Given the description of an element on the screen output the (x, y) to click on. 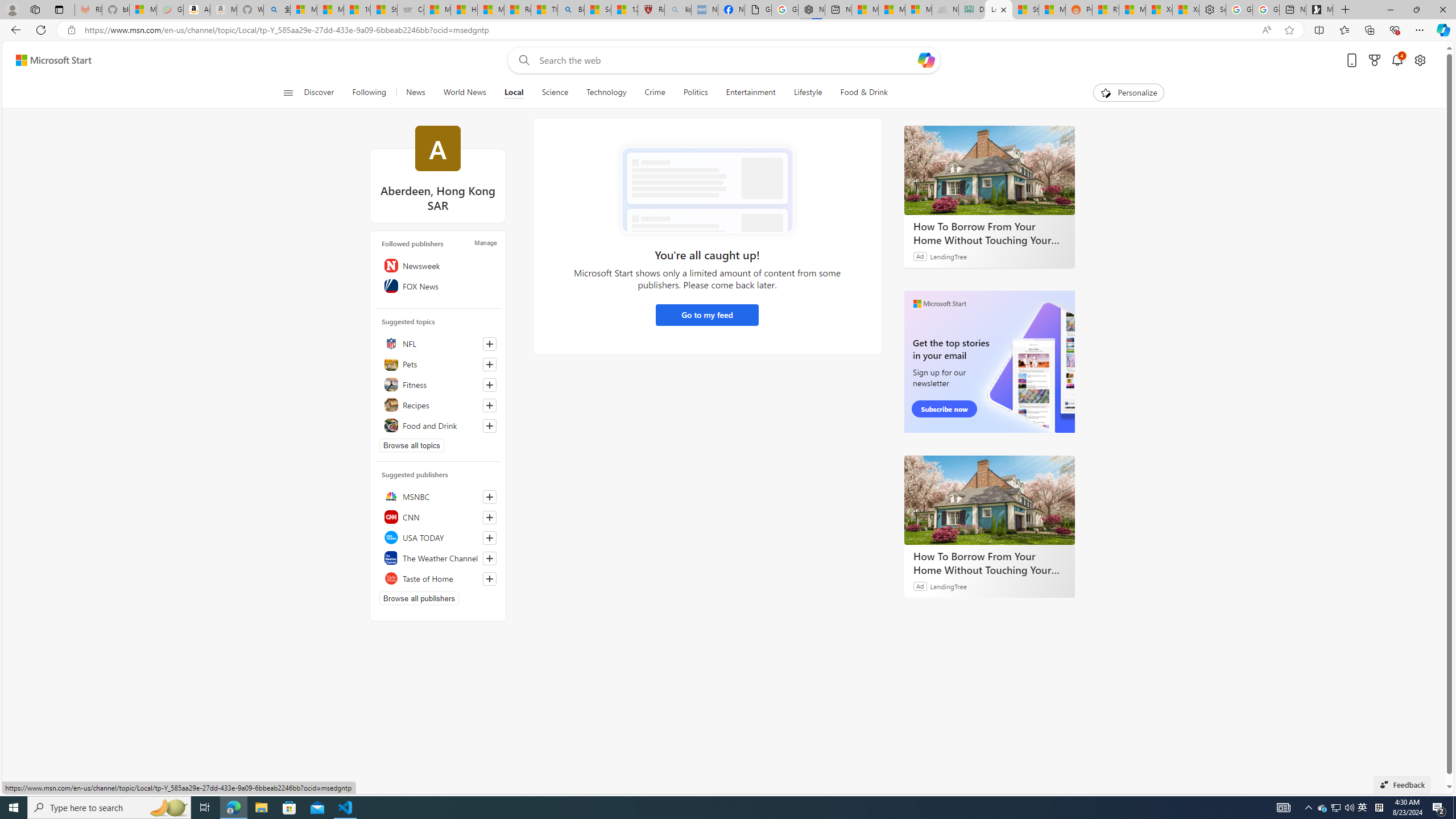
Follow this source (489, 578)
Browse all publishers (419, 598)
